Given the description of an element on the screen output the (x, y) to click on. 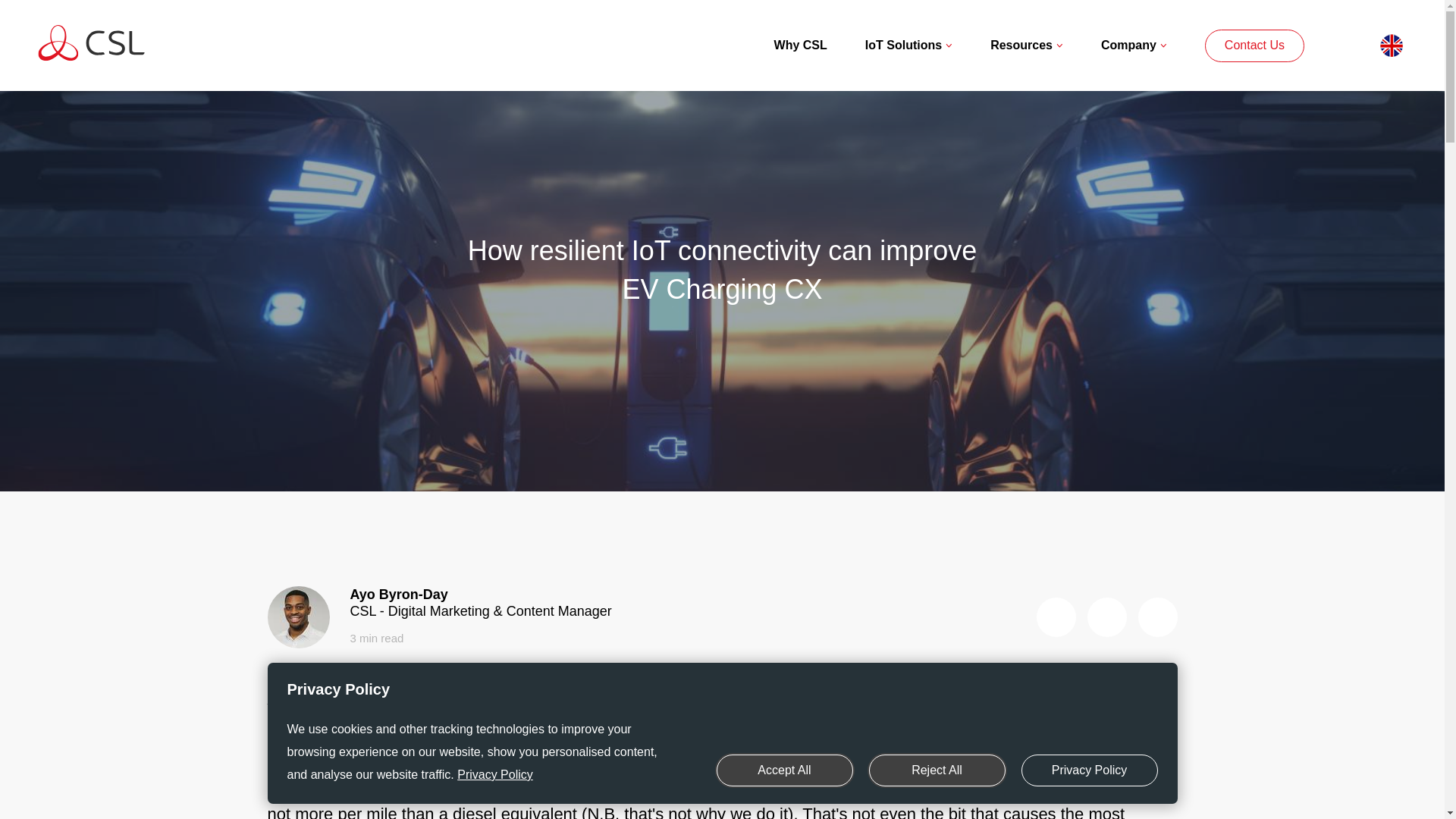
Resources (1026, 45)
Reject All (937, 770)
D9366B00-6EE9-430F-82B5-E7FD79CA199C (90, 45)
D9366B00-6EE9-430F-82B5-E7FD79CA199C (90, 43)
Why CSL (800, 45)
Contact Us (1254, 44)
Privacy Policy (1088, 770)
IoT Solutions (908, 45)
Privacy Policy (494, 774)
Accept All (783, 770)
